Given the description of an element on the screen output the (x, y) to click on. 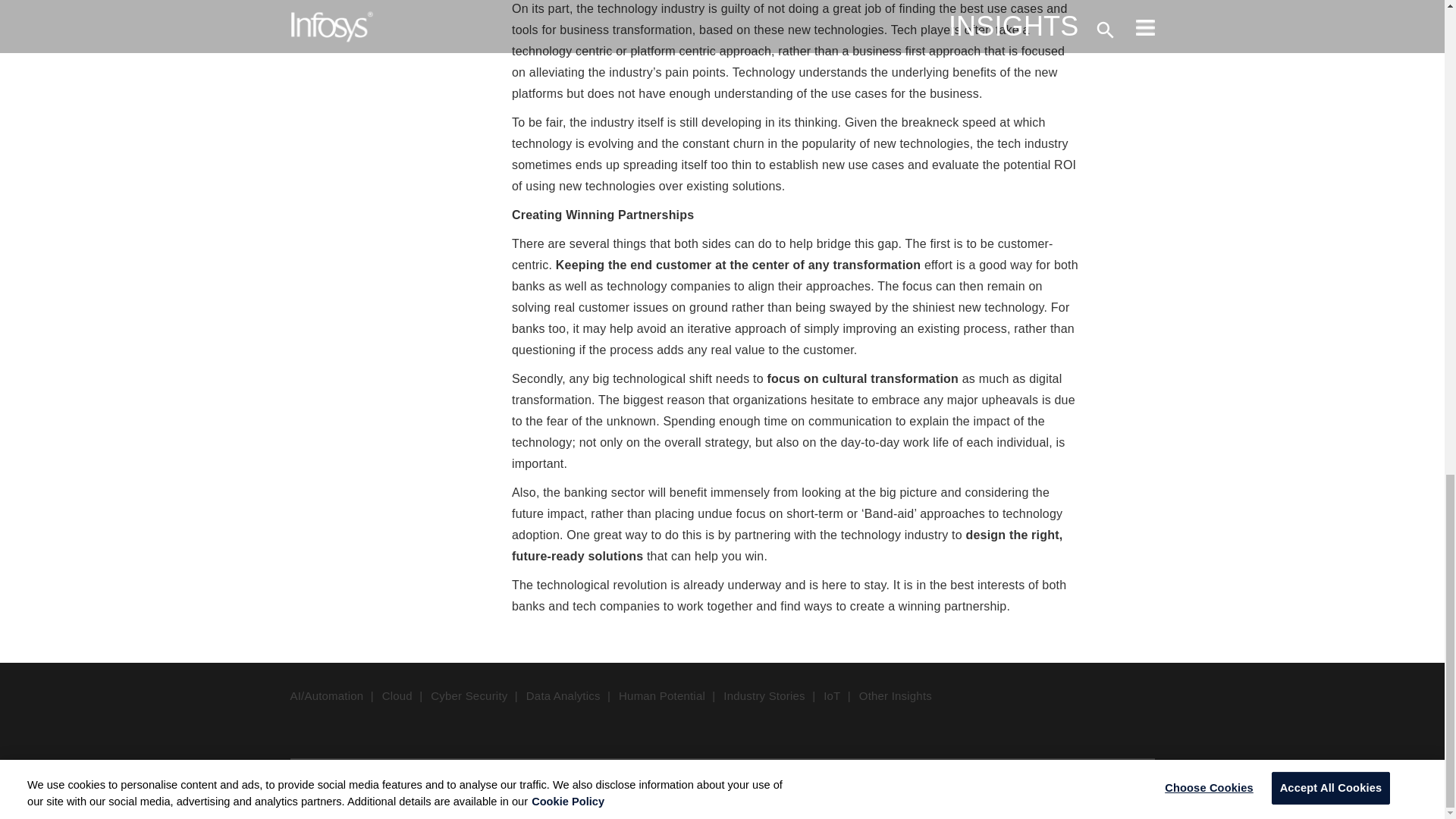
Cyber Security (468, 695)
Cloud (396, 695)
Industry Stories (764, 695)
Data Analytics (562, 695)
Human Potential (661, 695)
Human Potential (661, 695)
Other Insights (895, 695)
Privacy Statement (424, 784)
Data Analytics (562, 695)
Terms of Use (323, 784)
Cloud (396, 695)
IoT (832, 695)
Industry Stories (764, 695)
Safe Harbor Provision (547, 784)
IoT (832, 695)
